Given the description of an element on the screen output the (x, y) to click on. 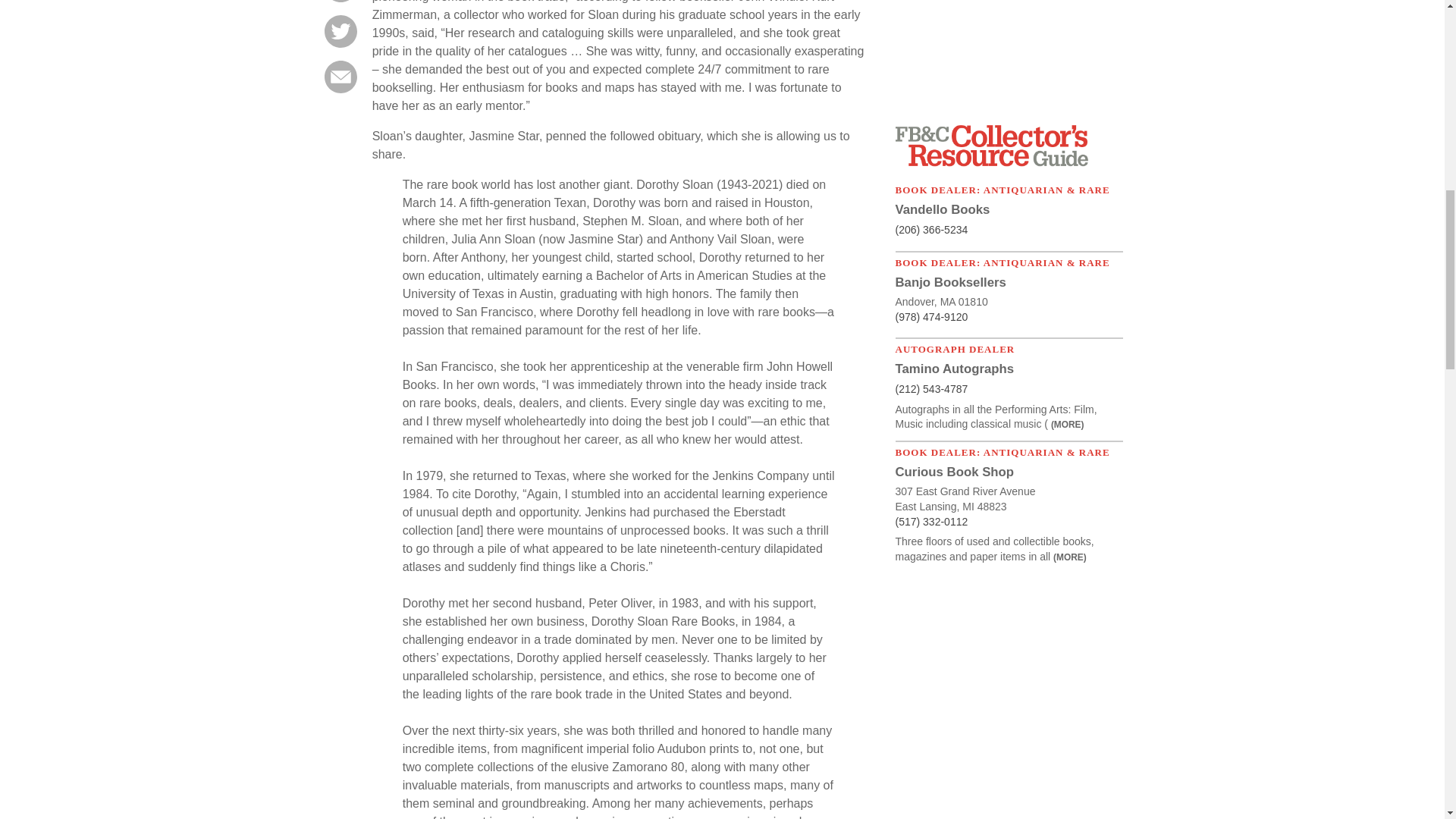
Vandello Books (942, 209)
3rd party ad content (1008, 54)
